Given the description of an element on the screen output the (x, y) to click on. 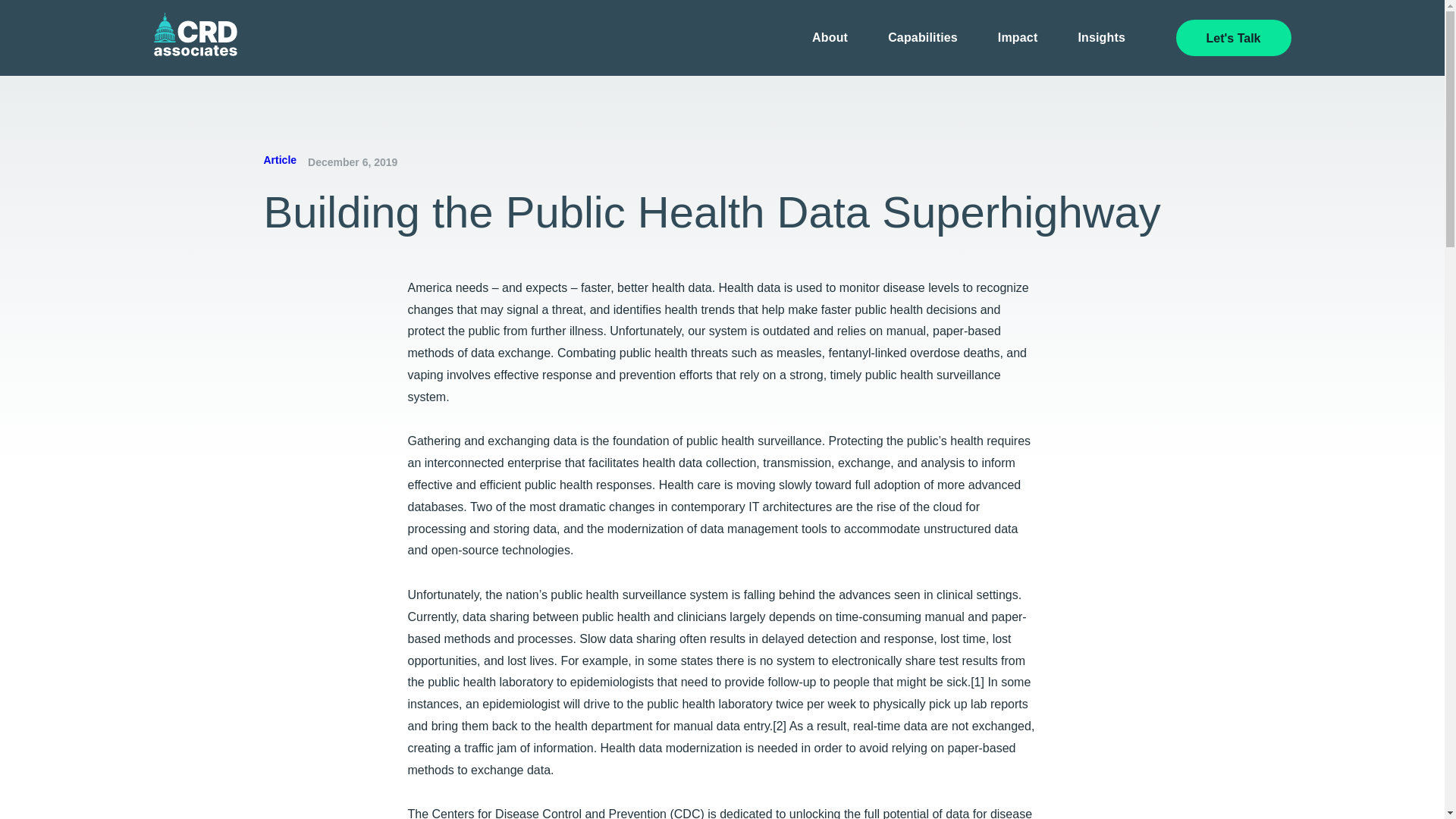
Let's Talk (1233, 38)
Article (280, 160)
Capabilities (922, 38)
Impact (1017, 38)
Insights (1101, 38)
About (829, 38)
